Given the description of an element on the screen output the (x, y) to click on. 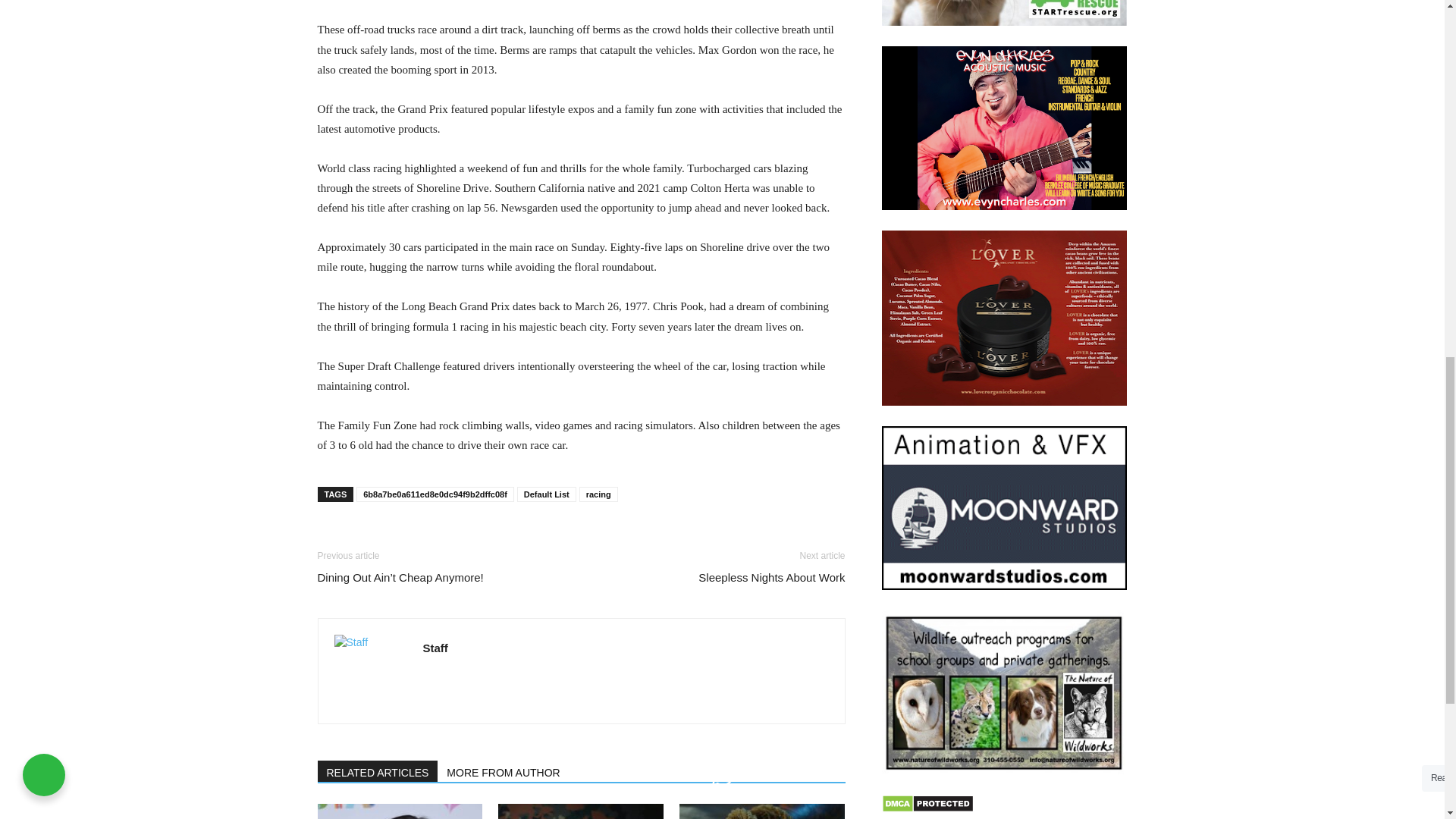
DMCA.com Protection Status (926, 808)
bottomFacebookLike (430, 535)
